Given the description of an element on the screen output the (x, y) to click on. 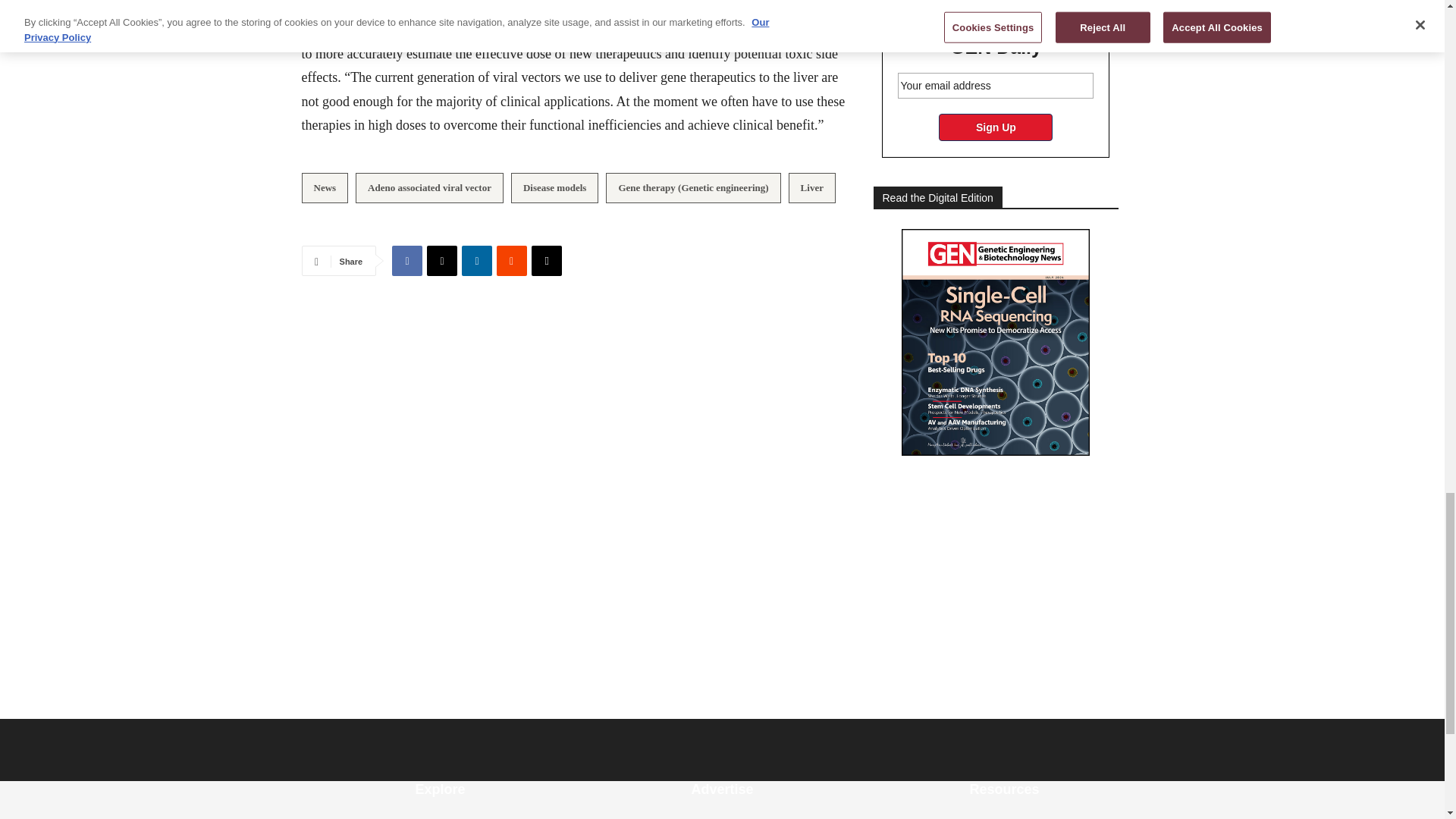
Sign Up (995, 126)
